Given the description of an element on the screen output the (x, y) to click on. 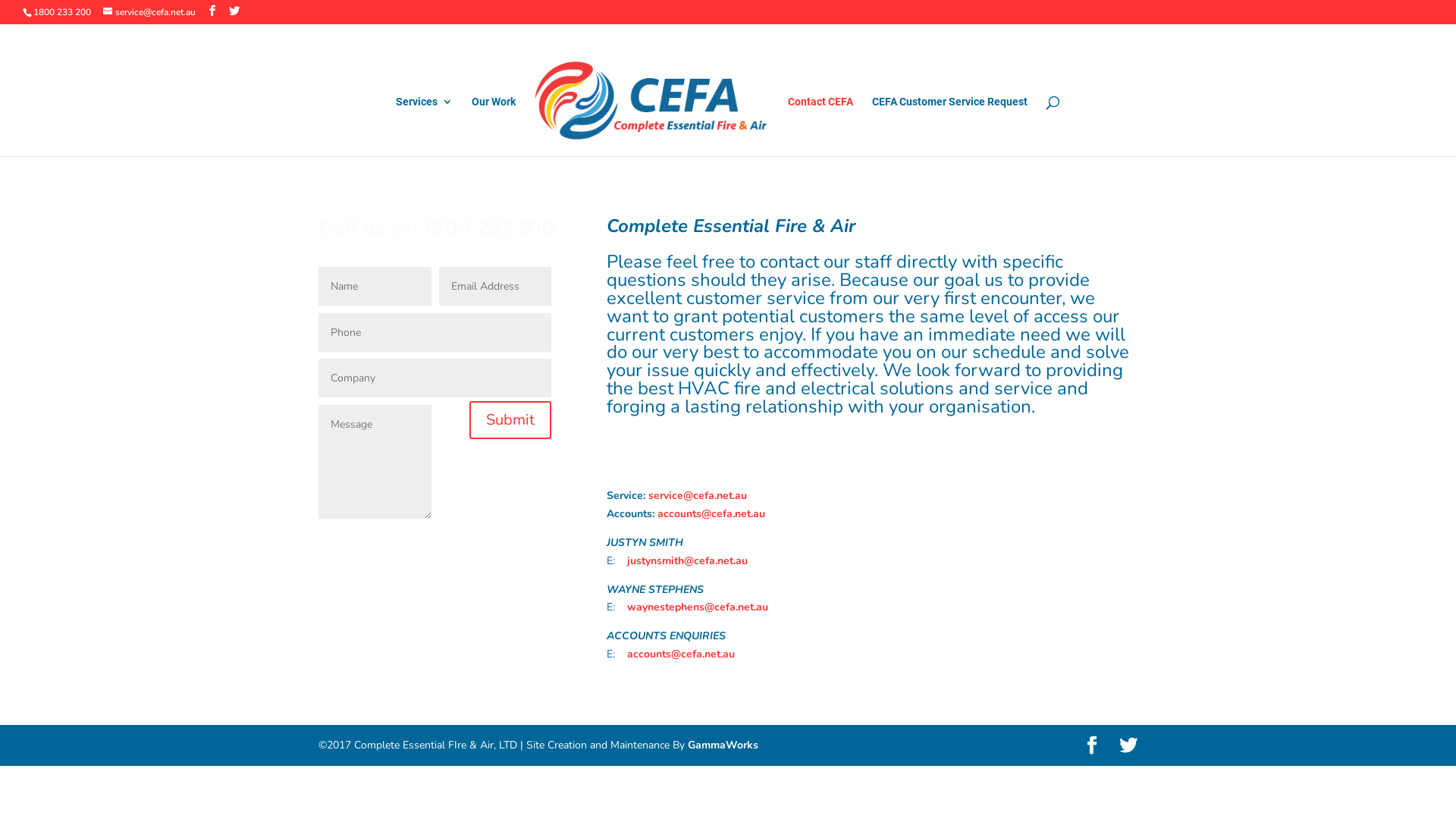
Contact CEFA Element type: text (820, 126)
Services Element type: text (423, 126)
CEFA Customer Service Request Element type: text (949, 126)
Submit Element type: text (510, 420)
accounts@cefa.net.au Element type: text (711, 513)
waynestephens@cefa.net.au Element type: text (697, 606)
accounts@cefa.net.au Element type: text (680, 653)
justynsmith@cefa.net.au   Element type: text (690, 560)
service@cefa.net.au Element type: text (149, 12)
service@cefa.net.au Element type: text (697, 495)
Our Work Element type: text (493, 126)
GammaWorks Element type: text (722, 744)
